Given the description of an element on the screen output the (x, y) to click on. 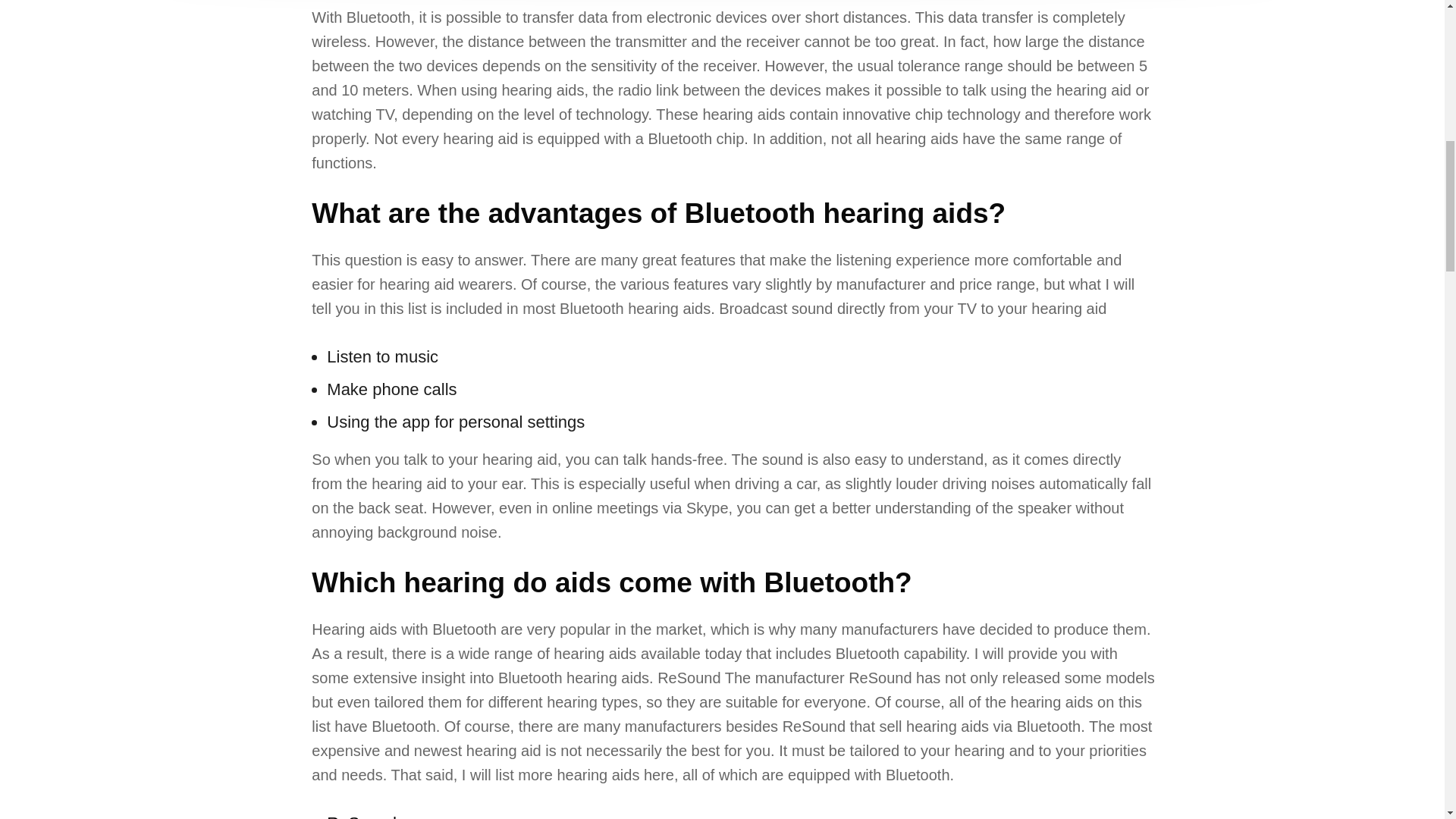
ReSound (361, 816)
